Given the description of an element on the screen output the (x, y) to click on. 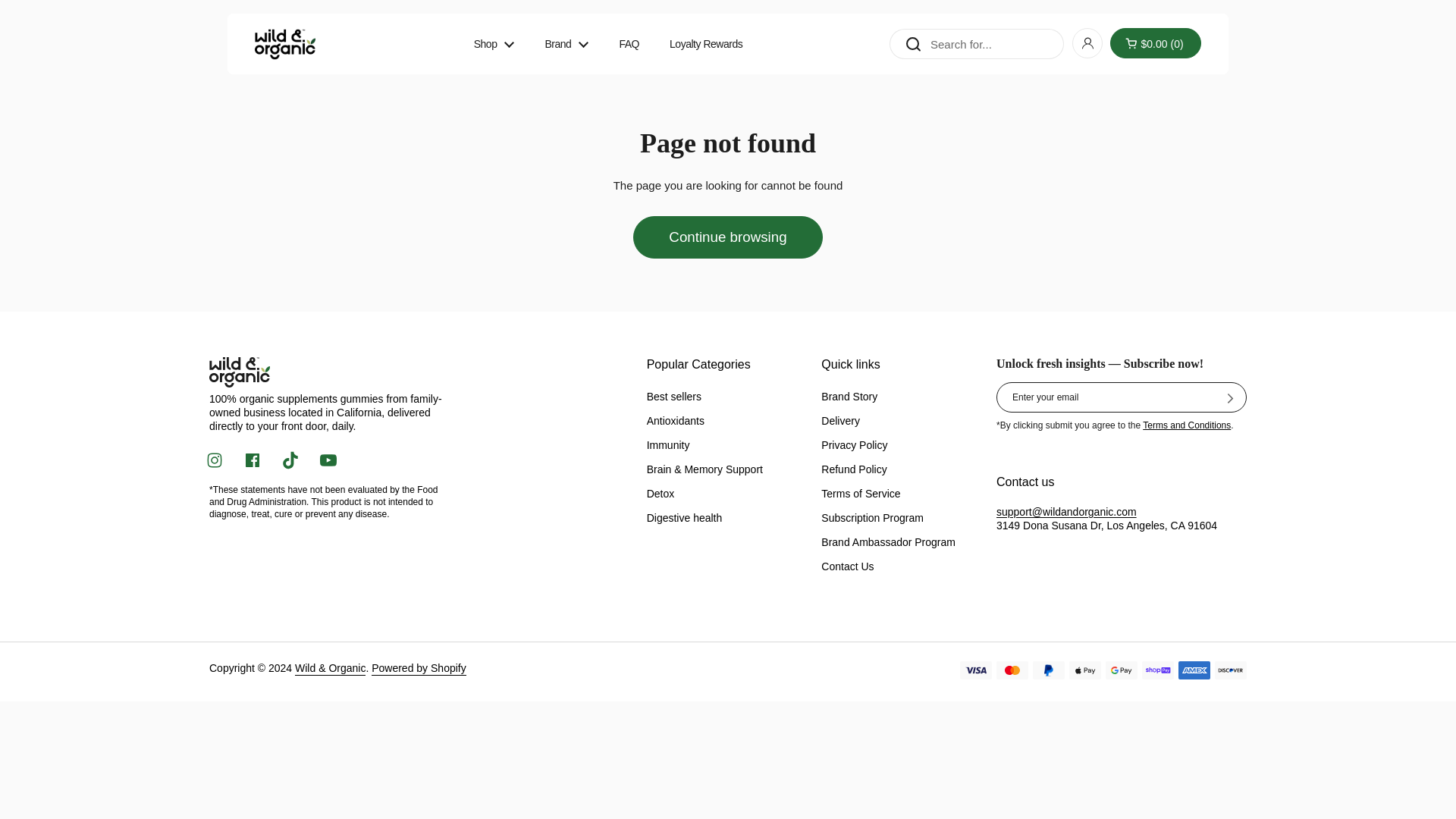
Shop (493, 43)
Open cart (1155, 42)
Terms of Service (1186, 425)
